Given the description of an element on the screen output the (x, y) to click on. 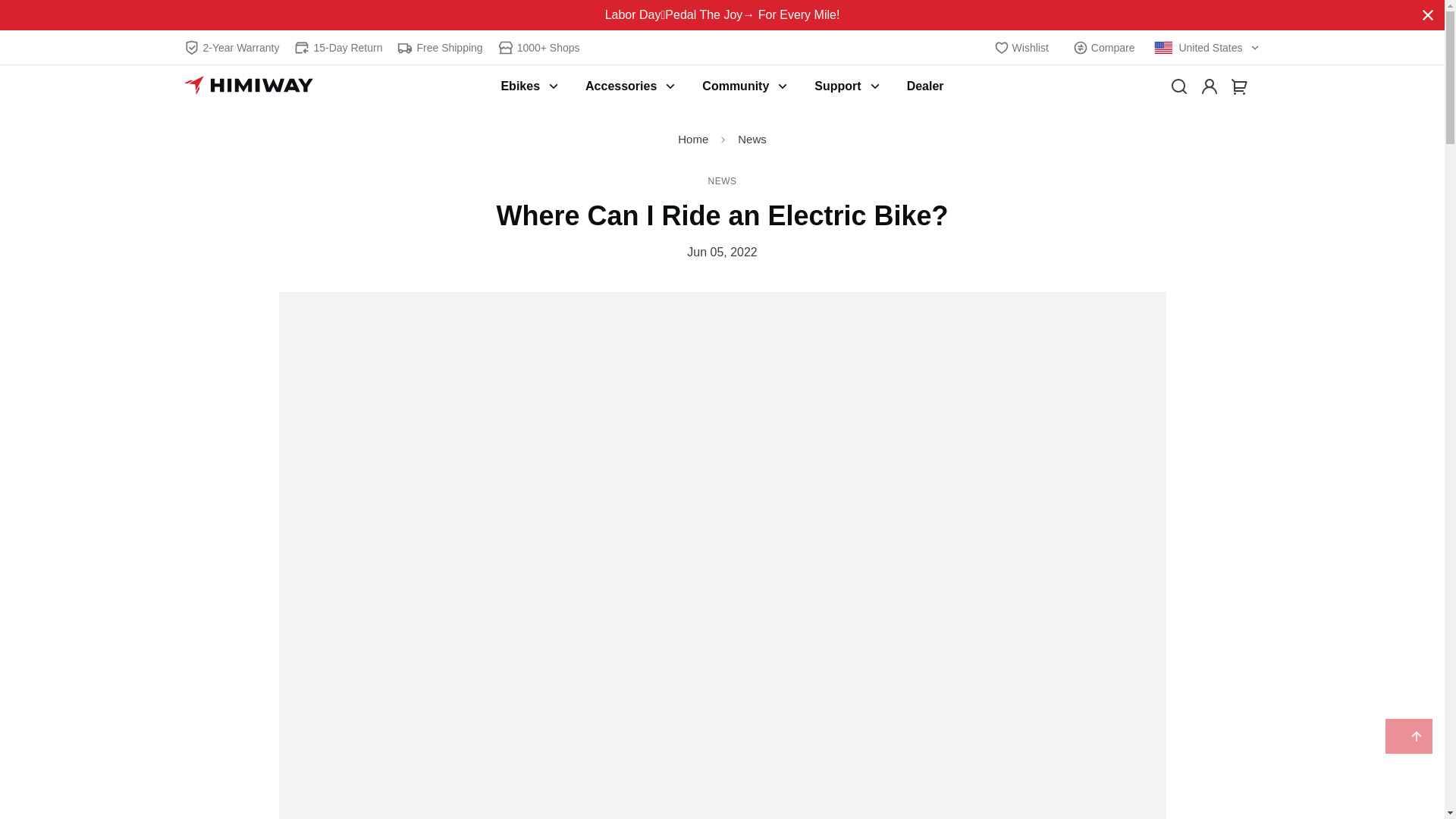
Back to the home page (692, 139)
Compare (1104, 46)
Himiway Bike (248, 86)
Wishlist (1021, 46)
